Given the description of an element on the screen output the (x, y) to click on. 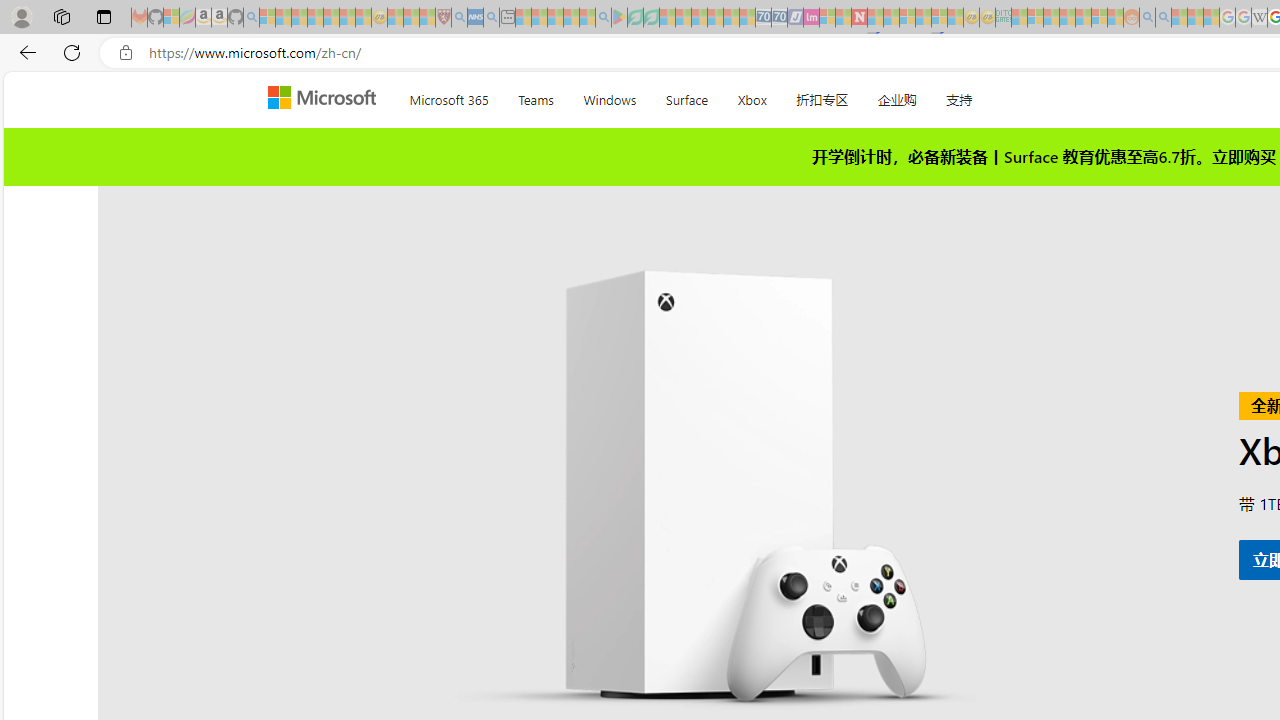
View site information (125, 53)
Local - MSN - Sleeping (427, 17)
Kinda Frugal - MSN - Sleeping (1083, 17)
Trusted Community Engagement and Contributions | Guidelines (875, 17)
Latest Politics News & Archive | Newsweek.com - Sleeping (859, 17)
Microsoft (326, 99)
Workspaces (61, 16)
Pets - MSN - Sleeping (571, 17)
Target page - Wikipedia - Sleeping (1259, 17)
Microsoft 365 (448, 96)
